Given the description of an element on the screen output the (x, y) to click on. 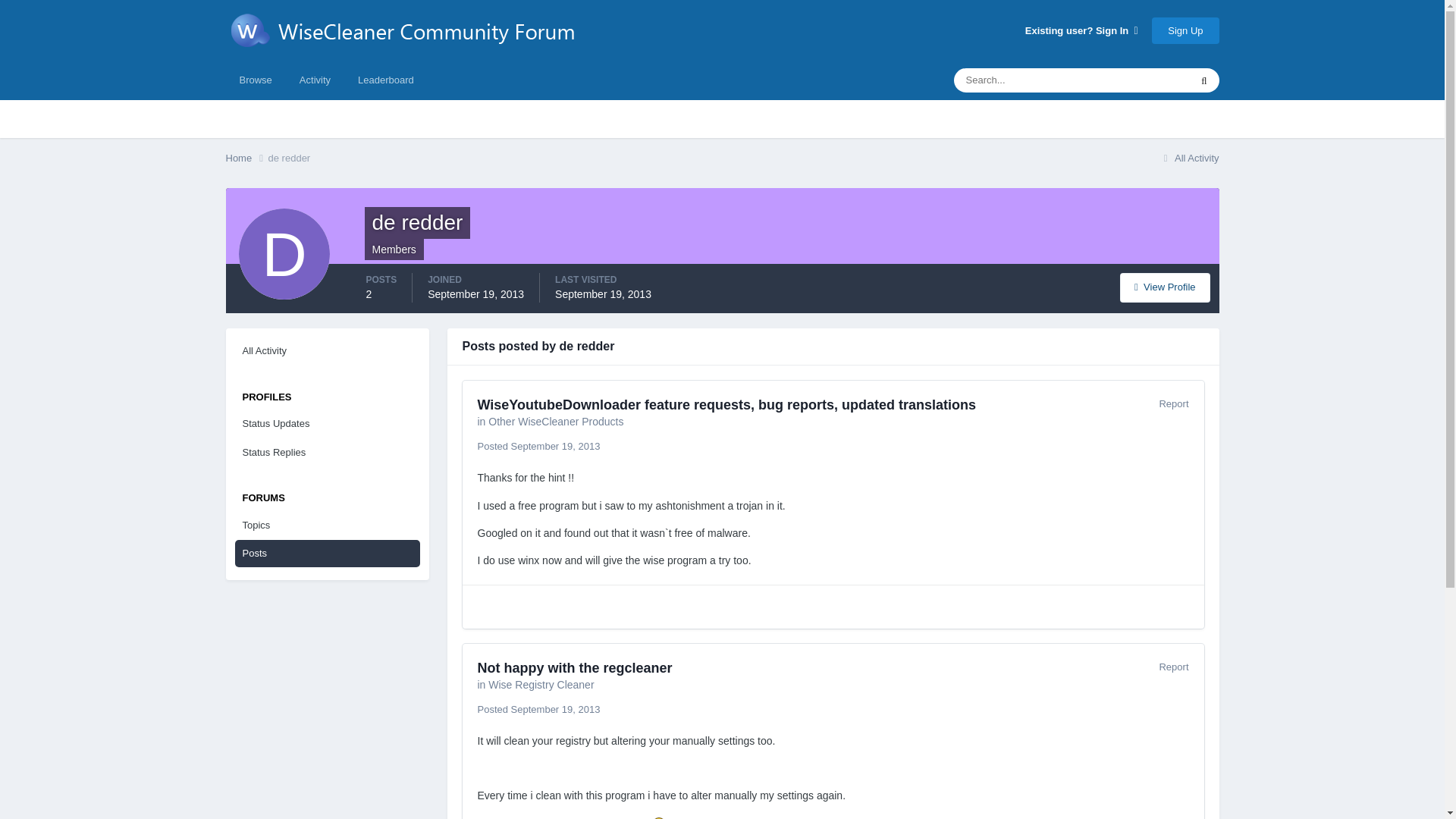
Home (246, 158)
 View Profile (1164, 287)
View the topic Not happy with the regcleaner (574, 667)
Report this content (1173, 666)
Posts (327, 553)
All Activity (327, 350)
Status Updates (327, 423)
Home (246, 158)
de redder (289, 157)
Topics (327, 524)
All Activity (1188, 157)
Existing user? Sign In   (1081, 30)
Browse (255, 79)
Leaderboard (385, 79)
